Given the description of an element on the screen output the (x, y) to click on. 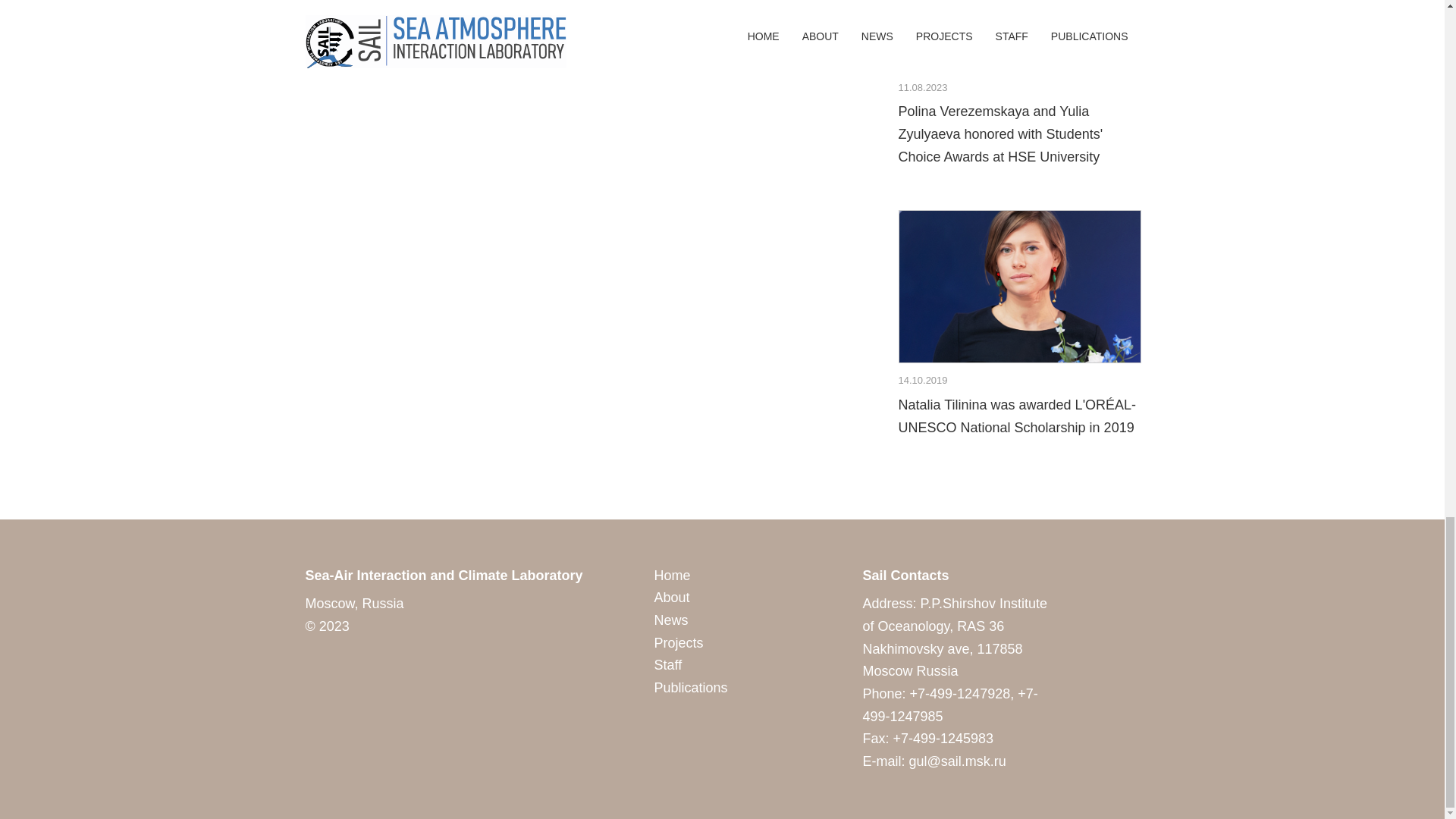
Staff (667, 664)
News (670, 620)
Projects (678, 642)
Home (671, 575)
About (670, 597)
Publications (689, 687)
